Given the description of an element on the screen output the (x, y) to click on. 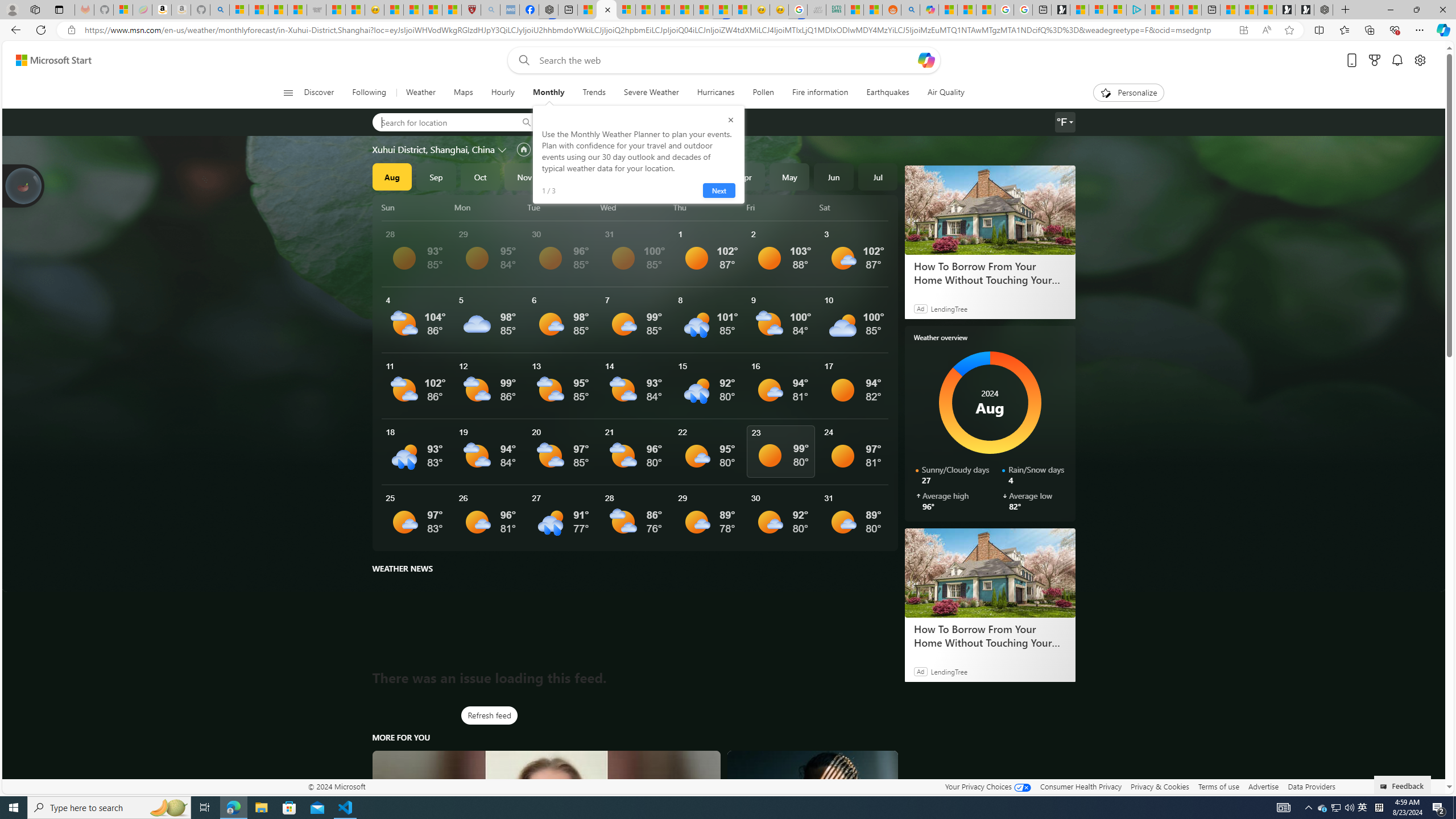
Sun (416, 207)
Apr (745, 176)
Weather (420, 92)
Trends (593, 92)
Xuhui District, Shanghai, China (433, 149)
